Given the description of an element on the screen output the (x, y) to click on. 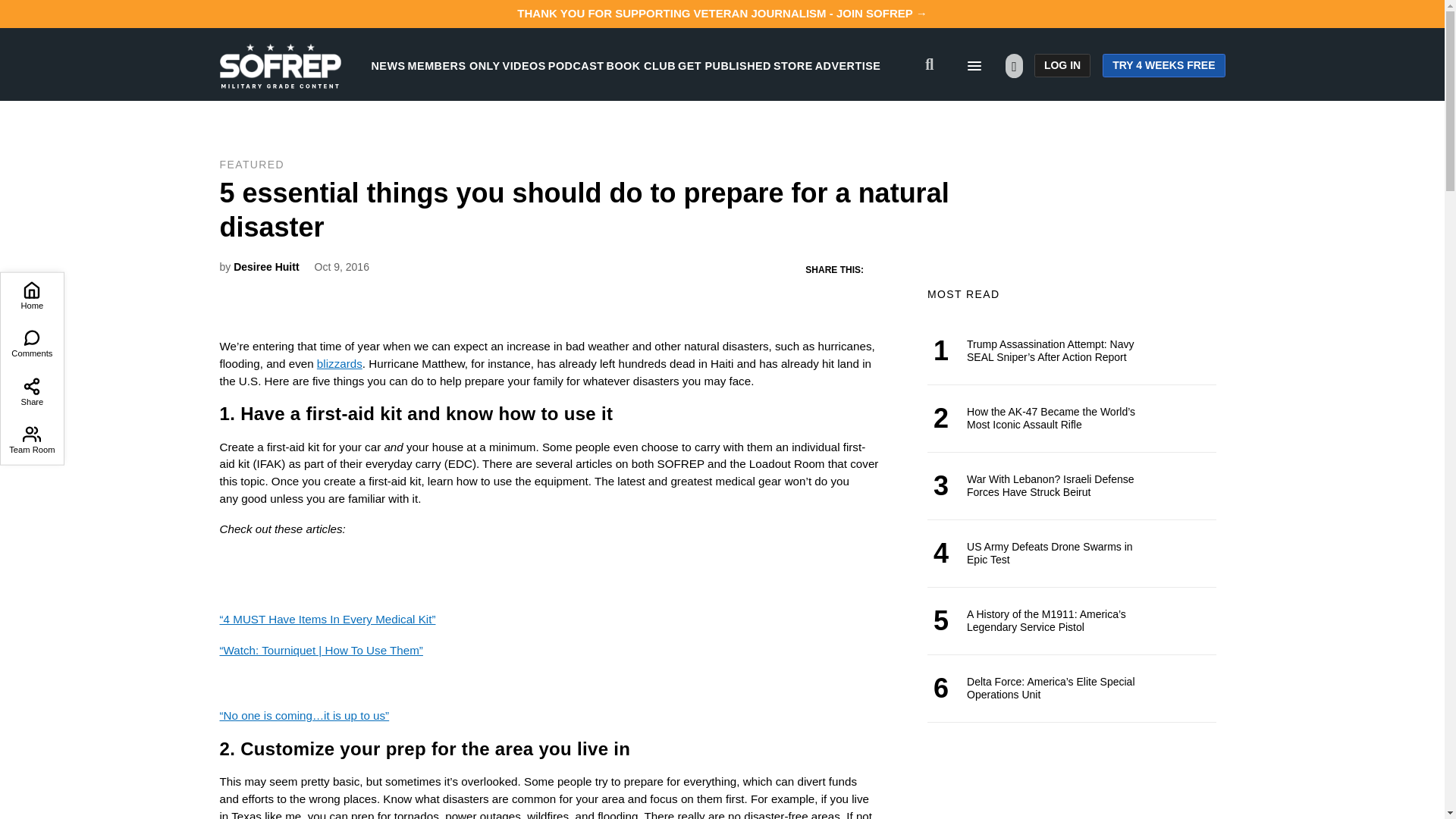
GET PUBLISHED (724, 65)
BOOK CLUB (641, 65)
MEMBERS ONLY (453, 65)
NEWS (388, 65)
ADVERTISE (847, 65)
STORE (792, 65)
LOG IN (1061, 65)
PODCAST (576, 65)
TRY 4 WEEKS FREE (1163, 65)
VIDEOS (524, 65)
